Given the description of an element on the screen output the (x, y) to click on. 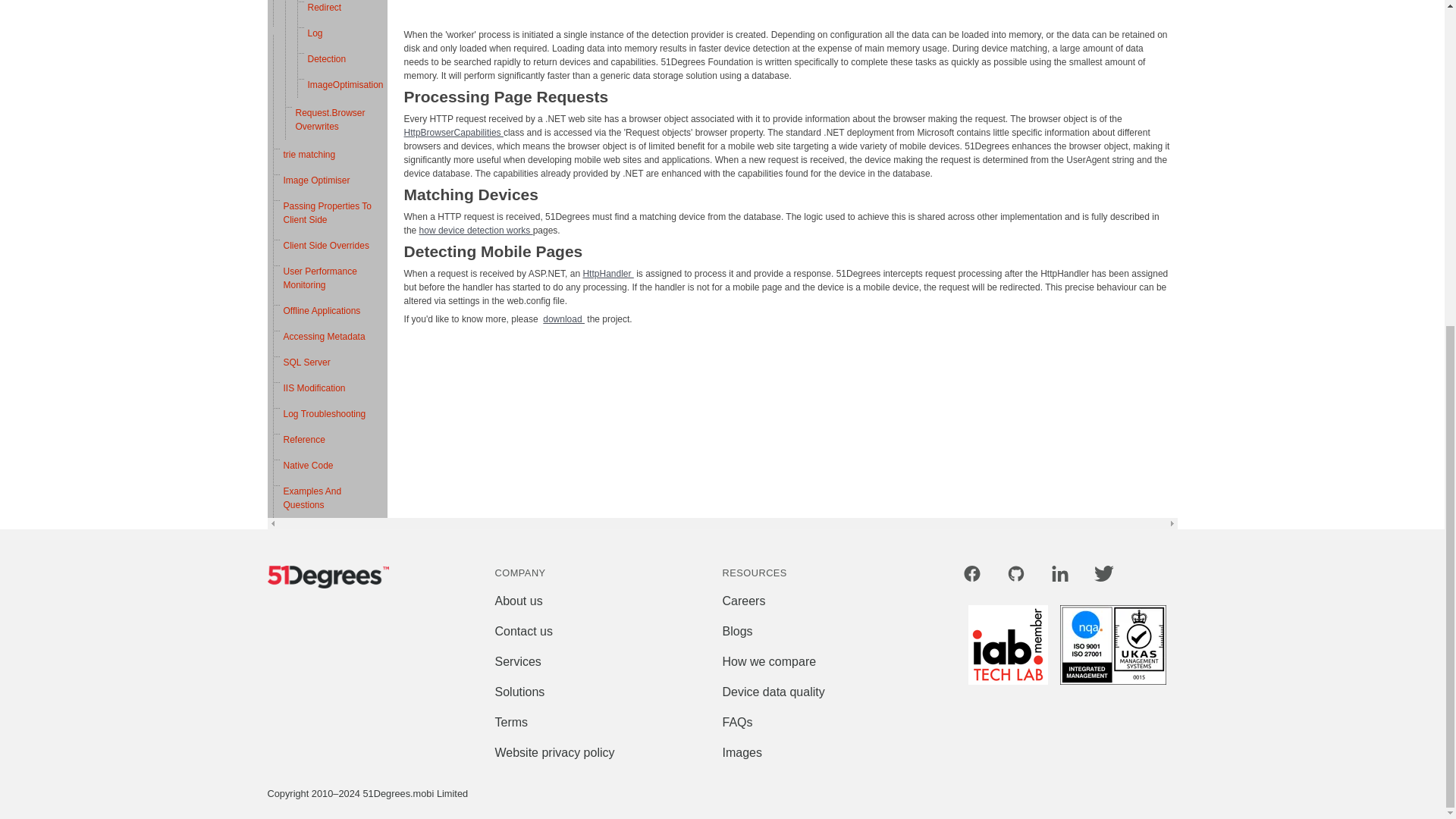
51degrees.mobi downloads (564, 317)
MSDN HttpBrowserCapabilities documentation (453, 131)
MSDN HttpHandler Documentation (607, 272)
